Given the description of an element on the screen output the (x, y) to click on. 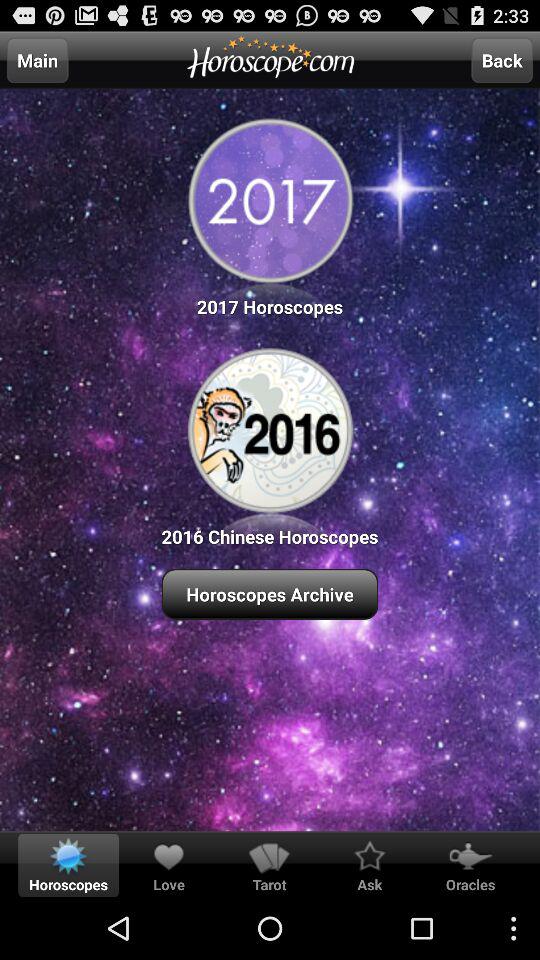
select main at the top left corner (37, 60)
